Given the description of an element on the screen output the (x, y) to click on. 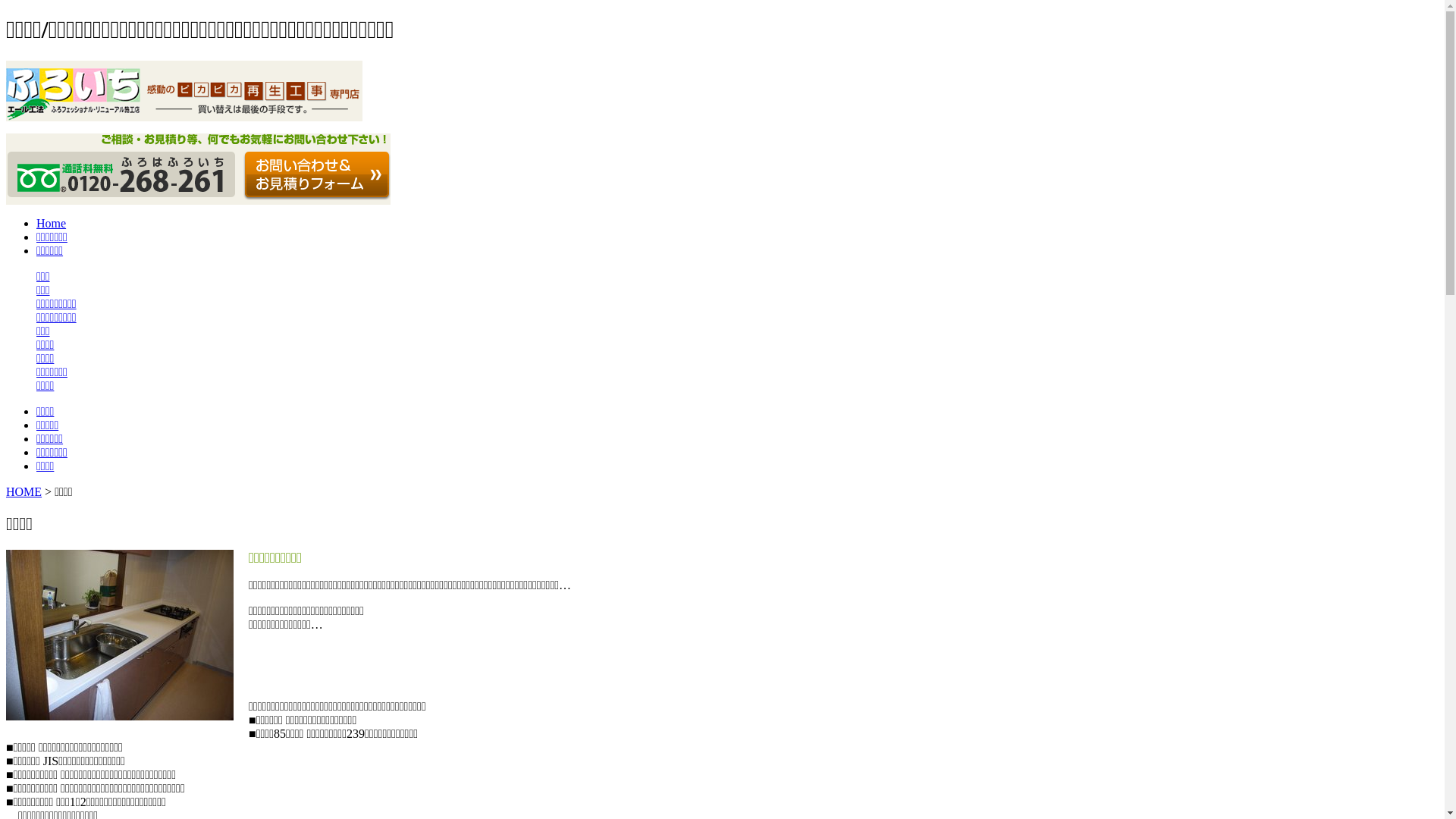
HOME Element type: text (23, 491)
Home Element type: text (50, 222)
